Given the description of an element on the screen output the (x, y) to click on. 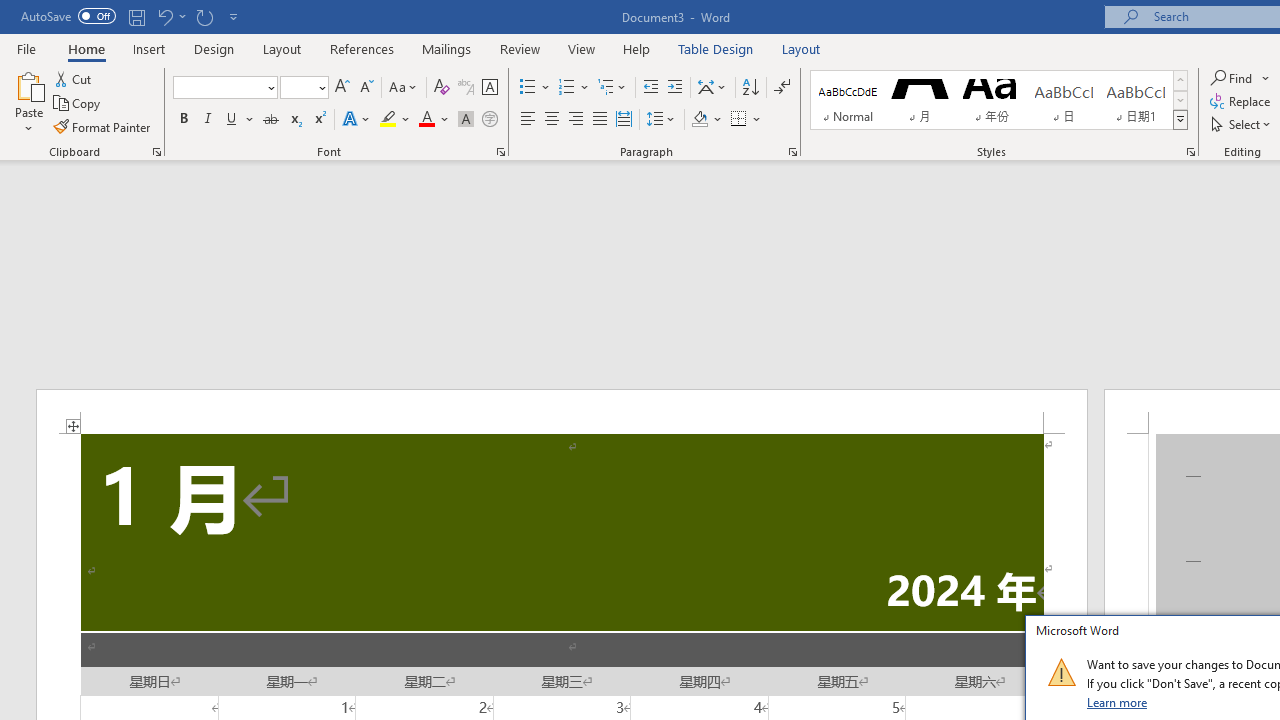
Font Size (304, 87)
Shading RGB(0, 0, 0) (699, 119)
Font Color (434, 119)
Align Right (575, 119)
More Options (1266, 78)
Character Shading (465, 119)
Home (86, 48)
References (362, 48)
System (10, 11)
Font Size (297, 87)
Table Design (715, 48)
Save (136, 15)
Paragraph... (792, 151)
Font Color RGB(255, 0, 0) (426, 119)
Bullets (527, 87)
